Given the description of an element on the screen output the (x, y) to click on. 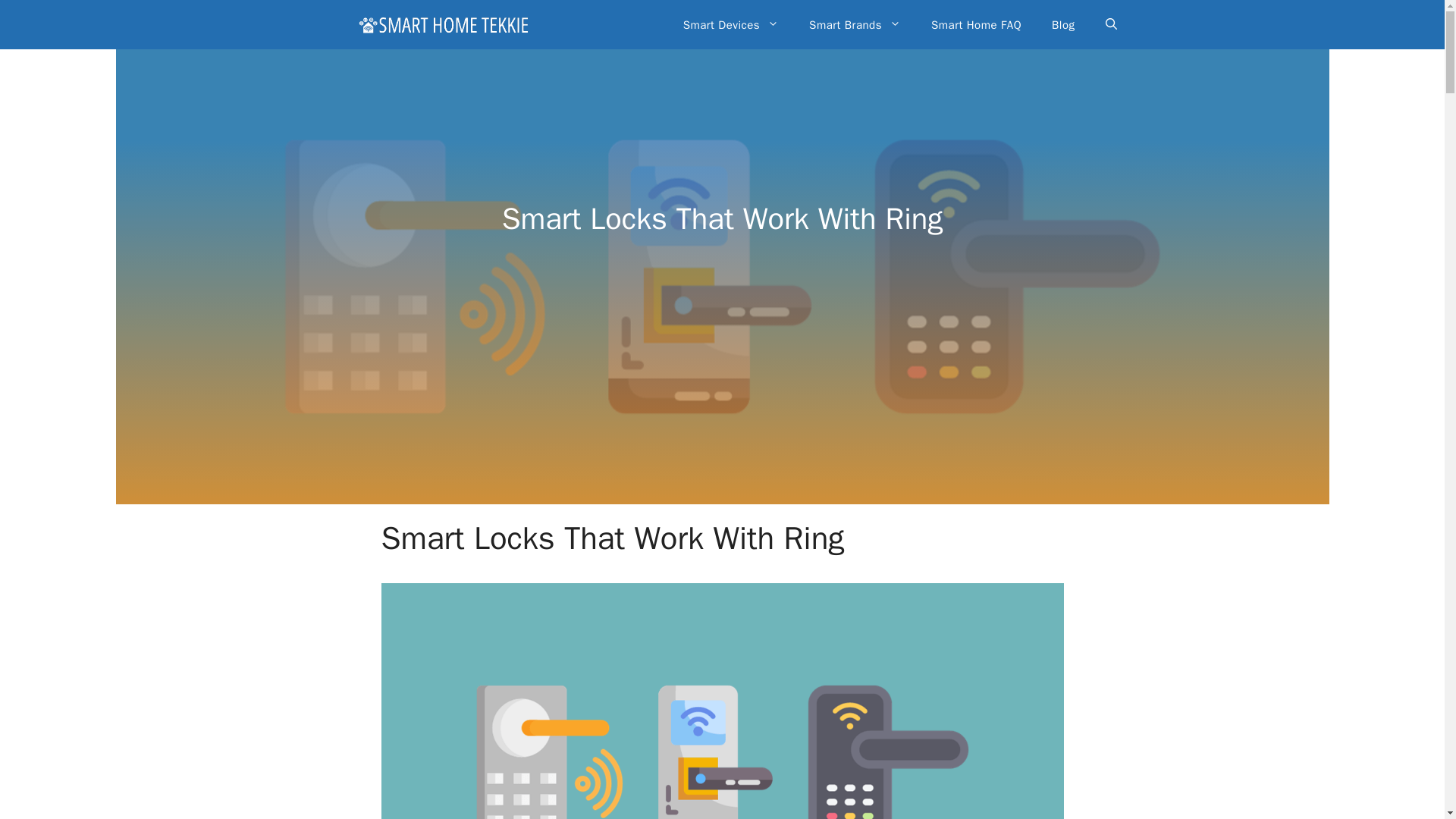
Smart Devices (730, 23)
Smart Brands (854, 23)
Blog (1062, 23)
Smart Home FAQ (975, 23)
Smart Home Tekkie (443, 24)
